Given the description of an element on the screen output the (x, y) to click on. 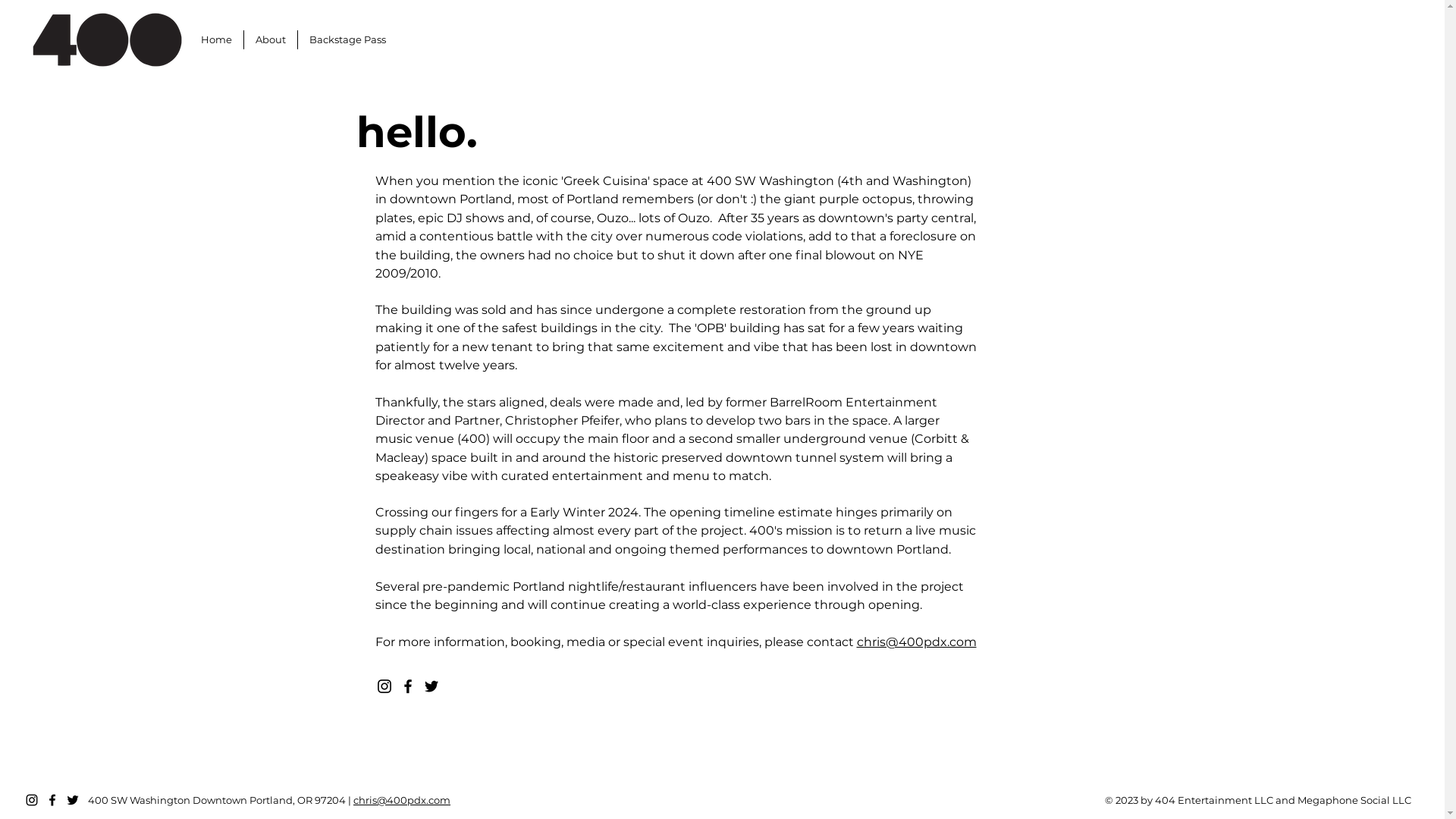
Home Element type: text (216, 39)
chris@400pdx.com Element type: text (401, 799)
About Element type: text (270, 39)
chris@400pdx.com Element type: text (916, 641)
Backstage Pass Element type: text (347, 39)
